Given the description of an element on the screen output the (x, y) to click on. 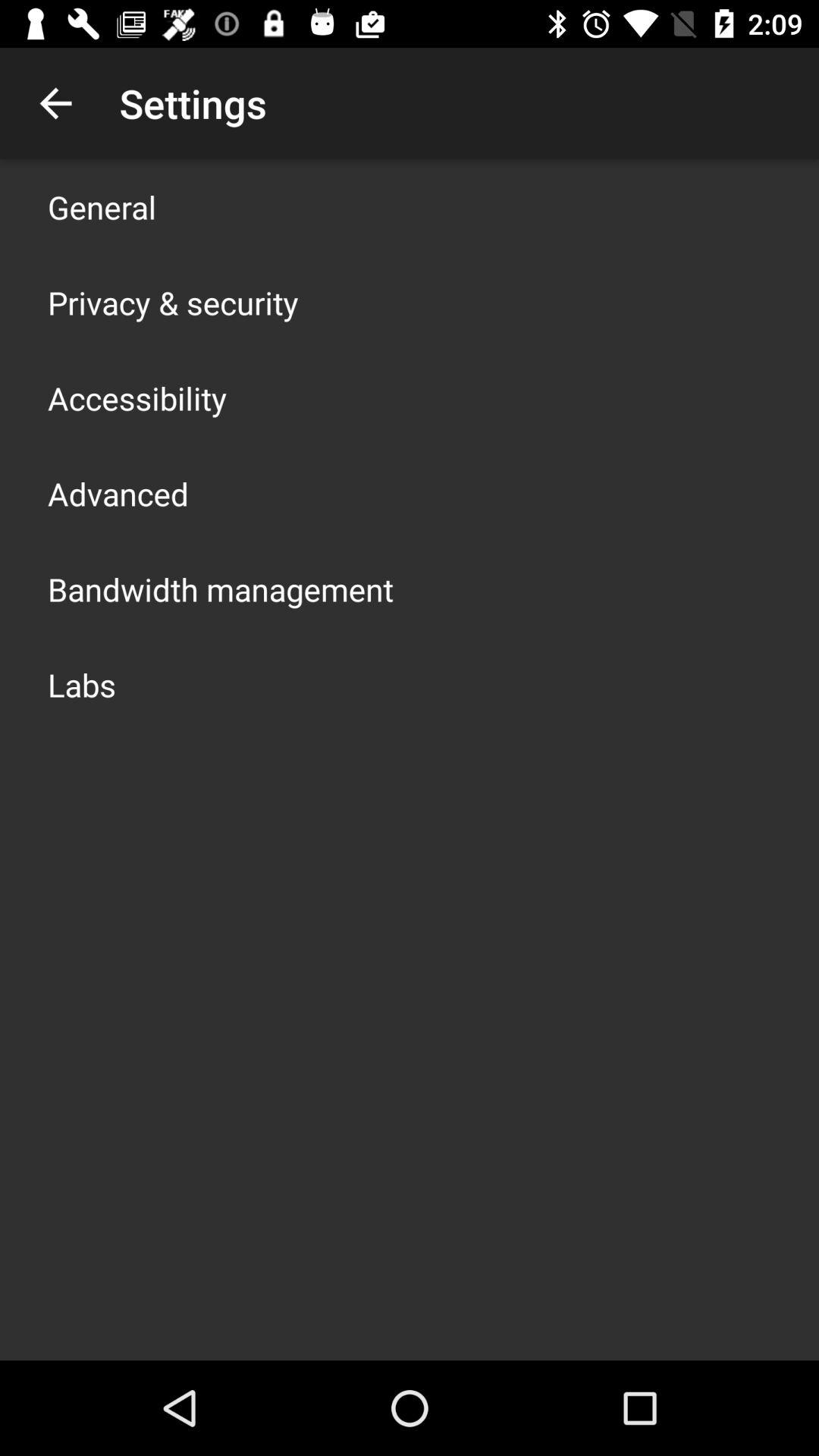
flip until advanced item (117, 493)
